Given the description of an element on the screen output the (x, y) to click on. 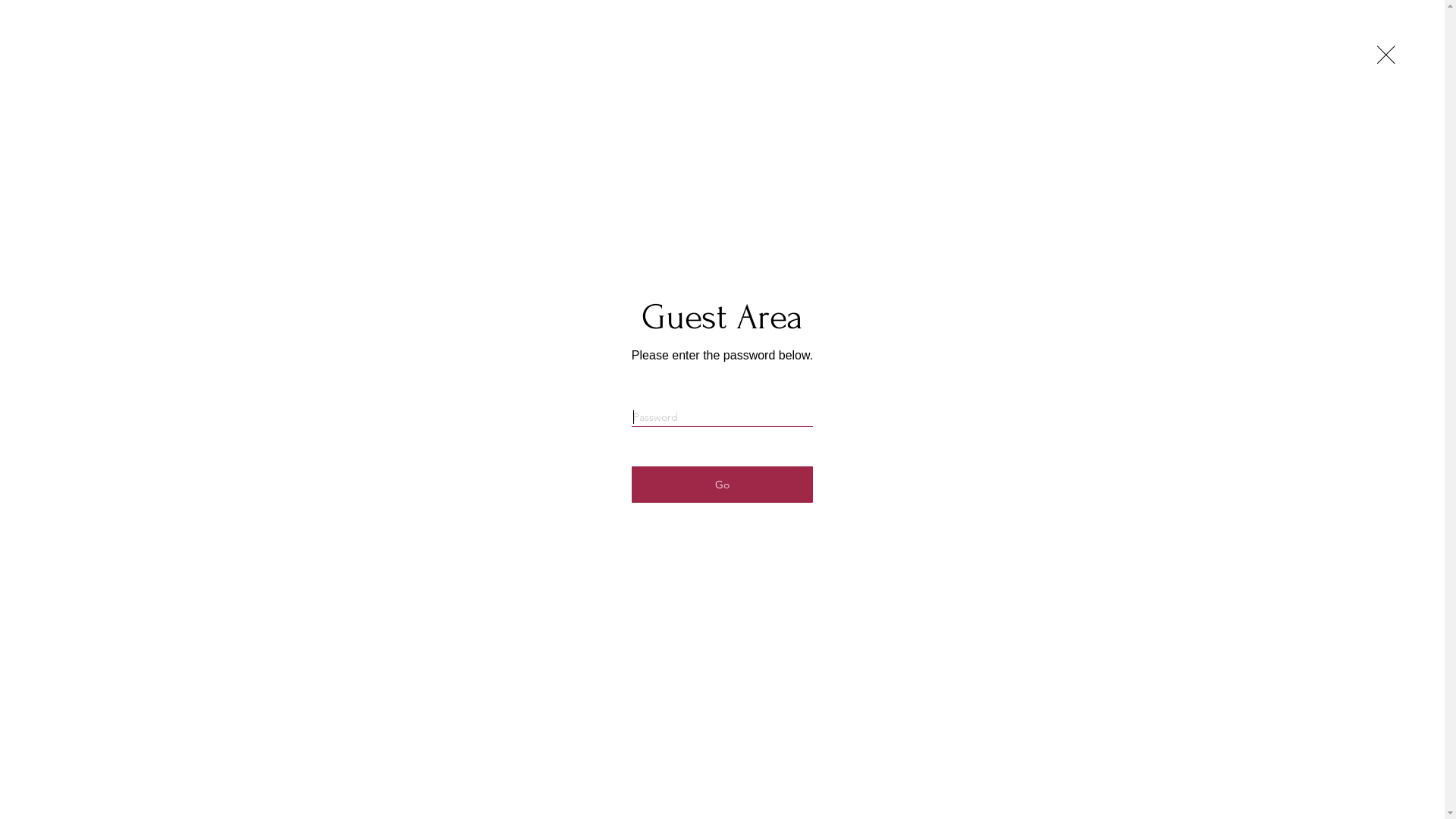
Go Element type: text (721, 484)
